Given the description of an element on the screen output the (x, y) to click on. 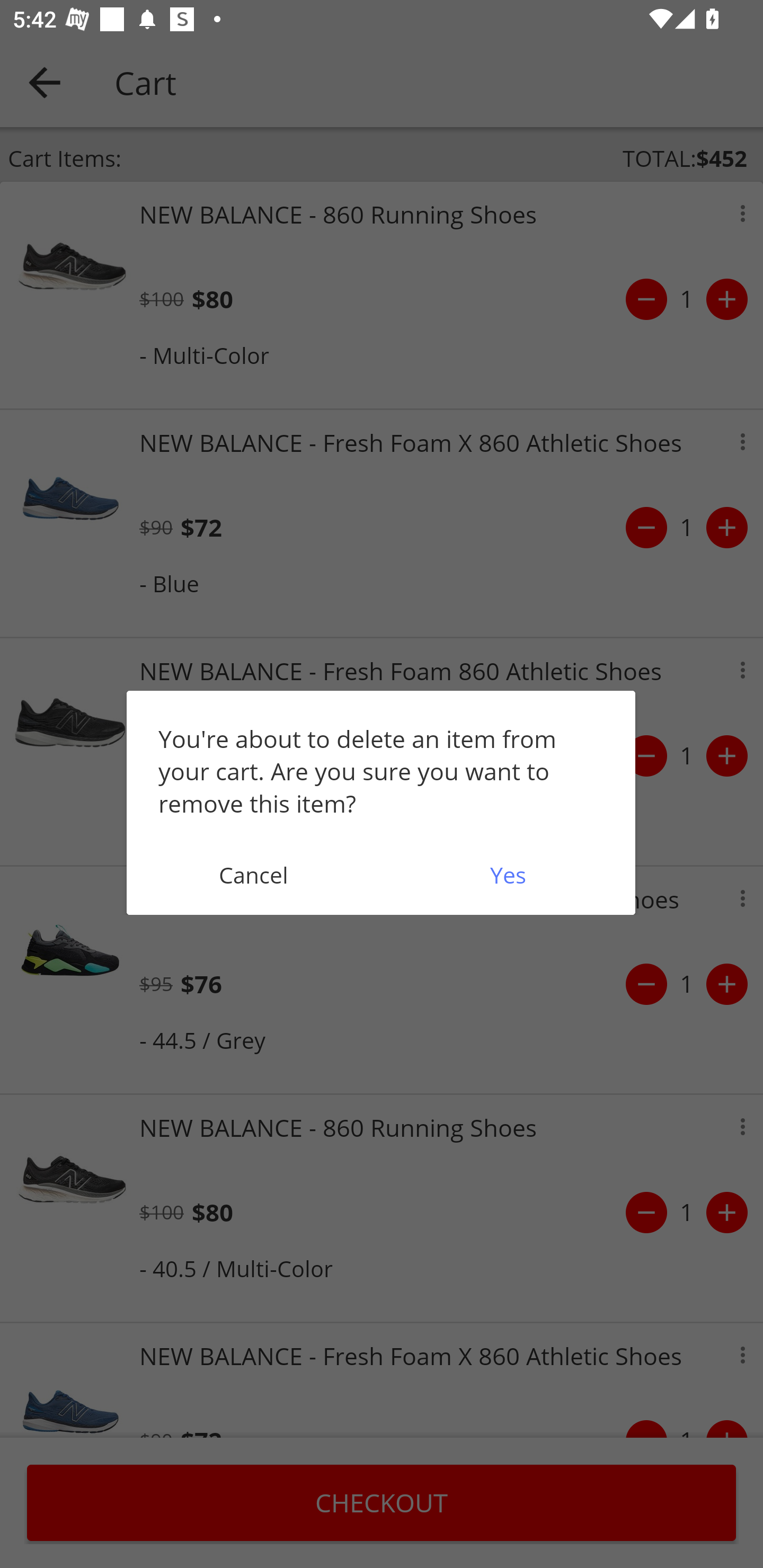
Cancel (253, 874)
Yes (507, 874)
